Given the description of an element on the screen output the (x, y) to click on. 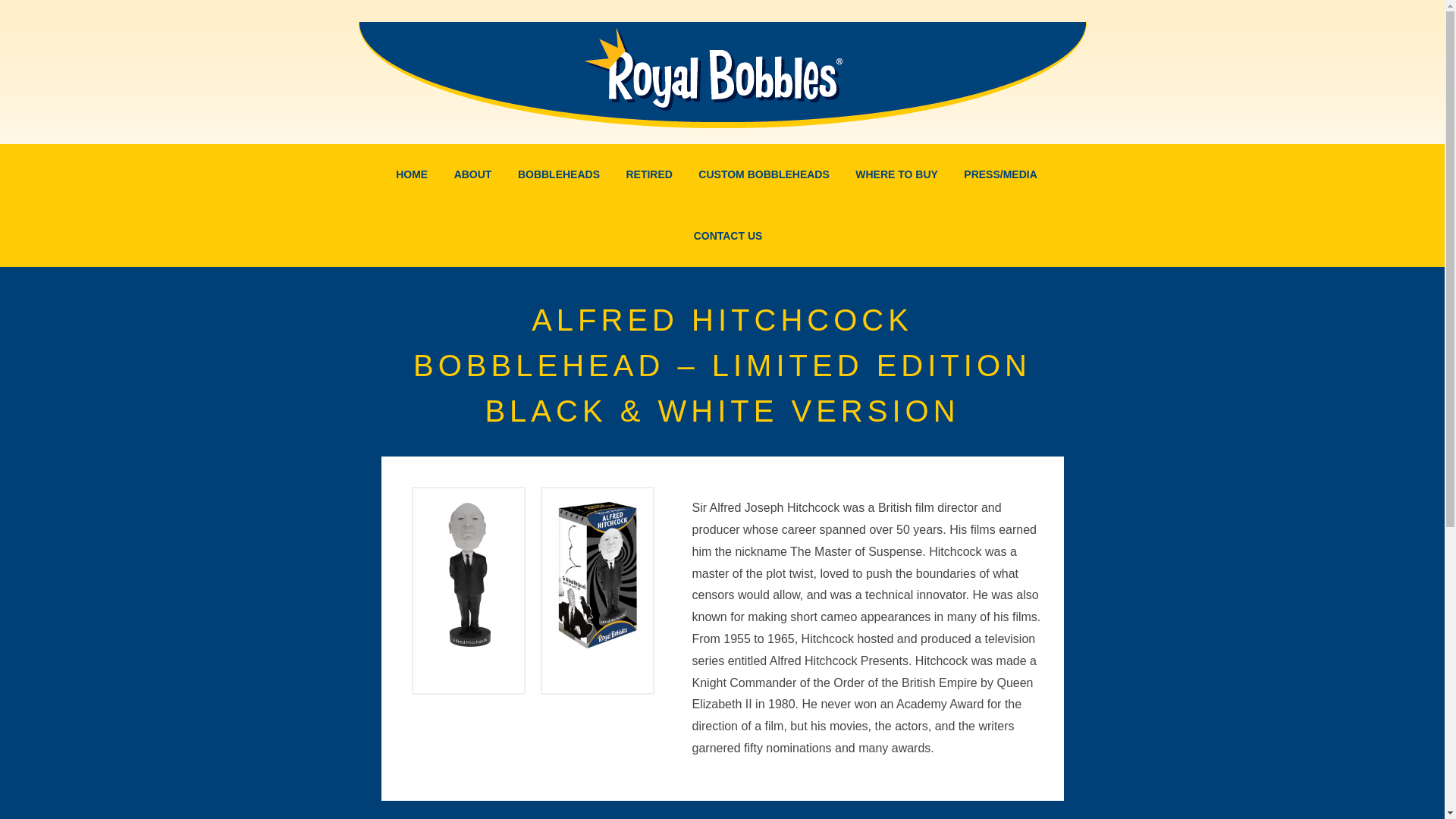
CONTACT US (722, 235)
ABOUT (472, 174)
RETIRED (648, 174)
CUSTOM BOBBLEHEADS (763, 174)
Royal Bobbles (714, 64)
WHERE TO BUY (896, 174)
BOBBLEHEADS (558, 174)
